Given the description of an element on the screen output the (x, y) to click on. 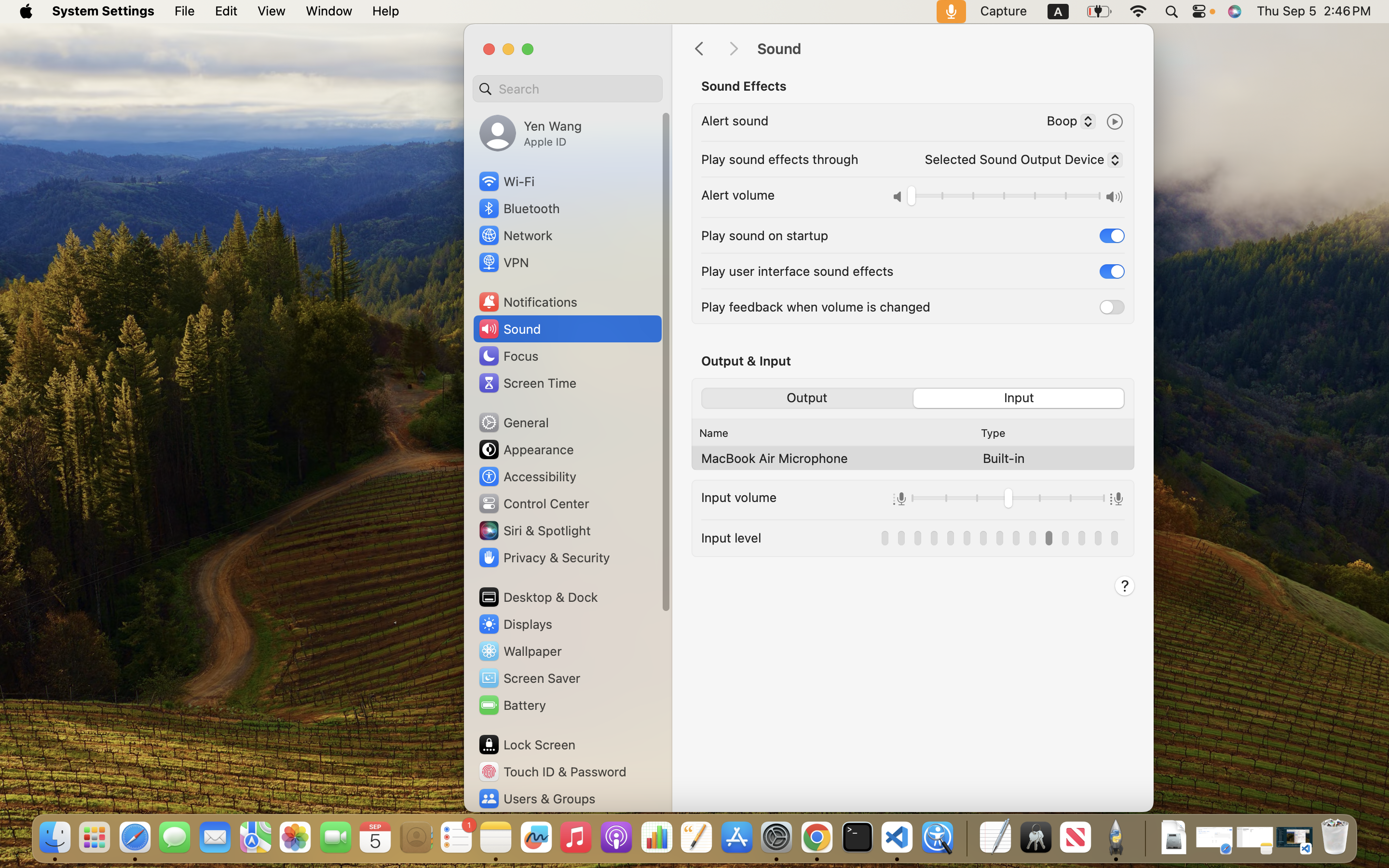
Play user interface sound effects Element type: AXStaticText (797, 270)
Displays Element type: AXStaticText (514, 623)
Sound Element type: AXStaticText (945, 49)
1 Element type: AXCheckBox (1111, 235)
Screen Time Element type: AXStaticText (526, 382)
